Given the description of an element on the screen output the (x, y) to click on. 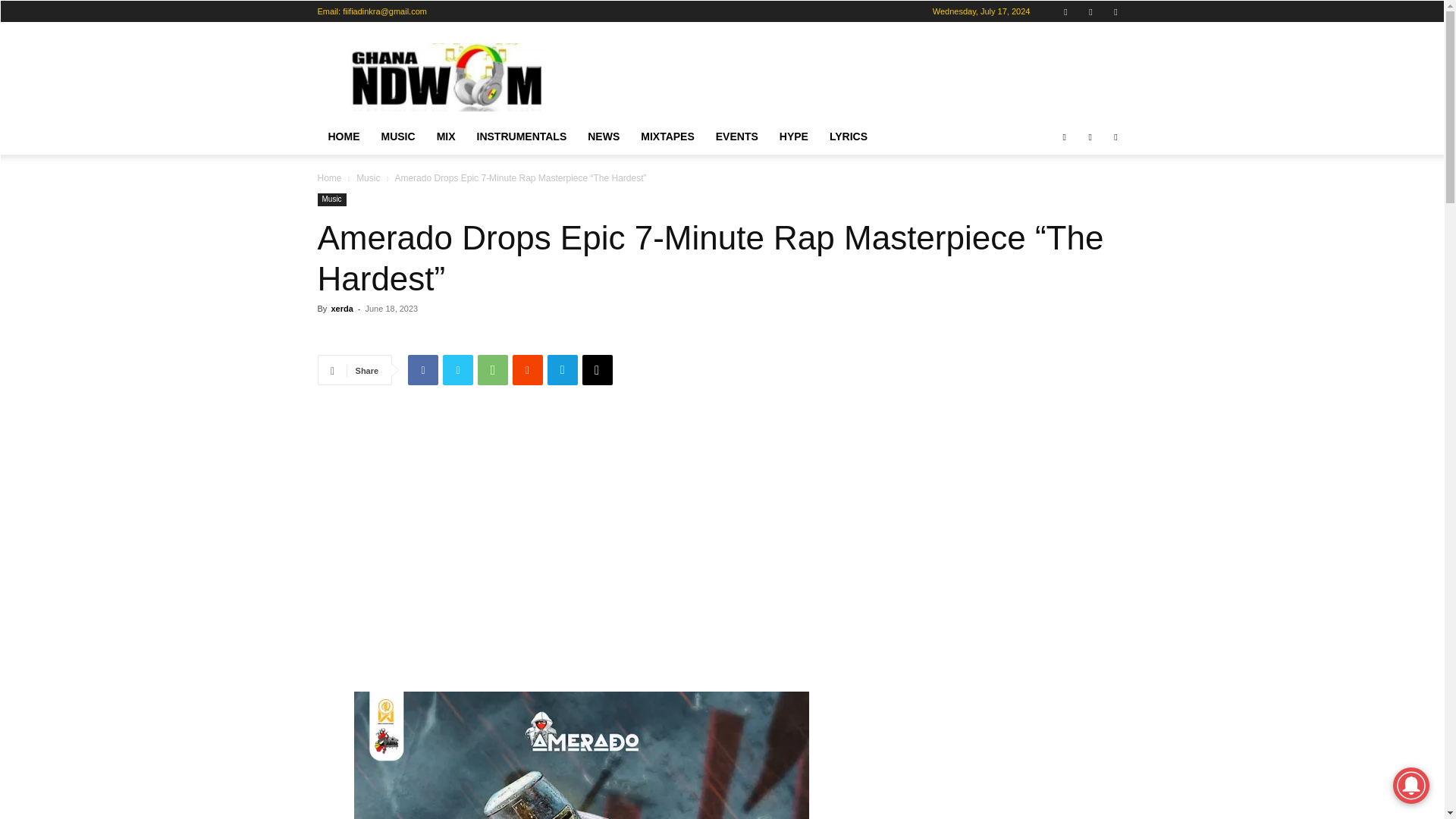
MIX (445, 135)
MUSIC (397, 135)
WhatsApp (492, 369)
xerda (341, 307)
Facebook (1065, 11)
Facebook (422, 369)
INSTRUMENTALS (521, 135)
Music (368, 177)
Music (331, 199)
ReddIt (527, 369)
Home (328, 177)
Twitter (457, 369)
View all posts in Music (368, 177)
HYPE (793, 135)
LYRICS (847, 135)
